Given the description of an element on the screen output the (x, y) to click on. 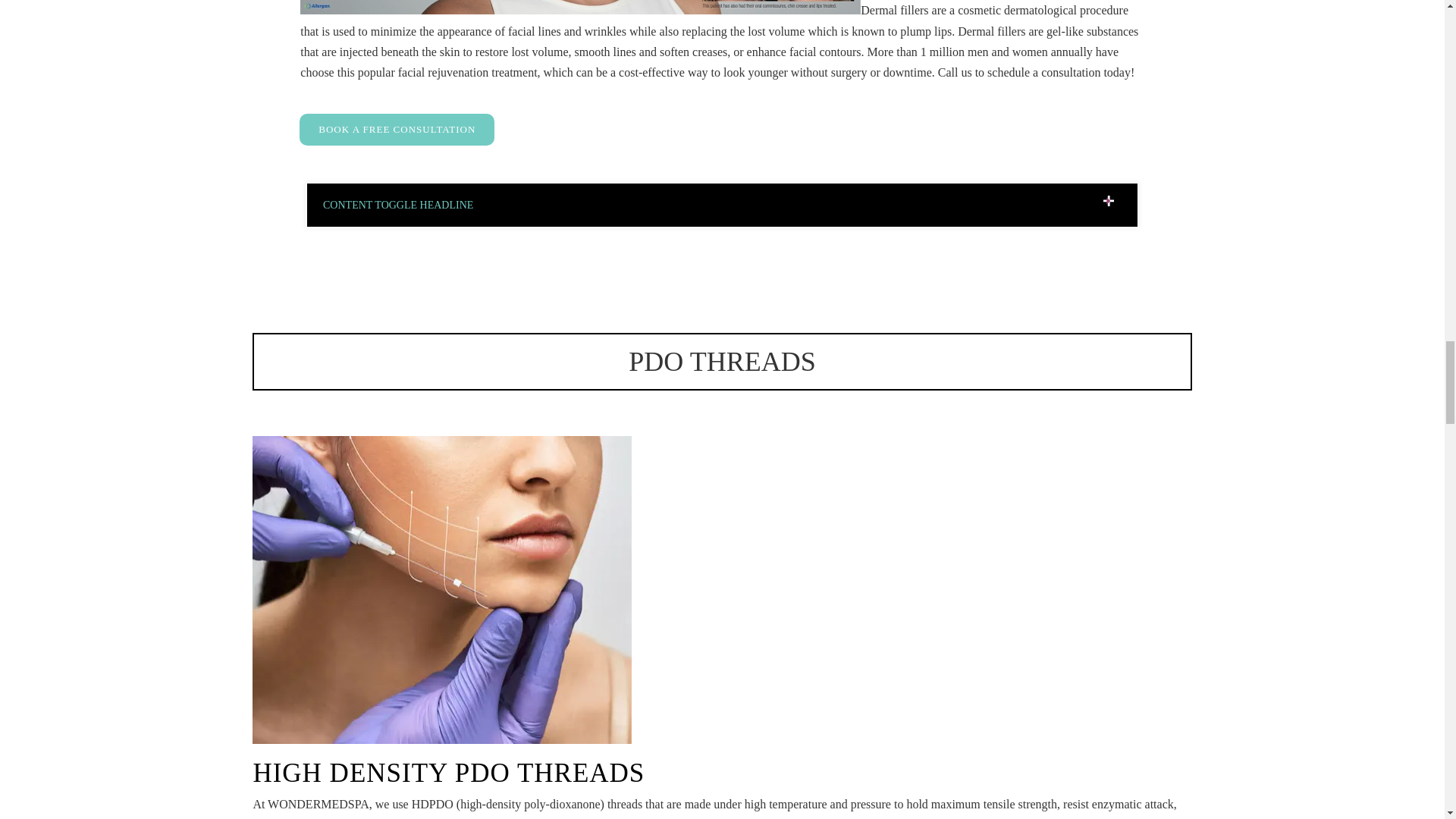
BOOK A FREE CONSULTATION (397, 129)
